Given the description of an element on the screen output the (x, y) to click on. 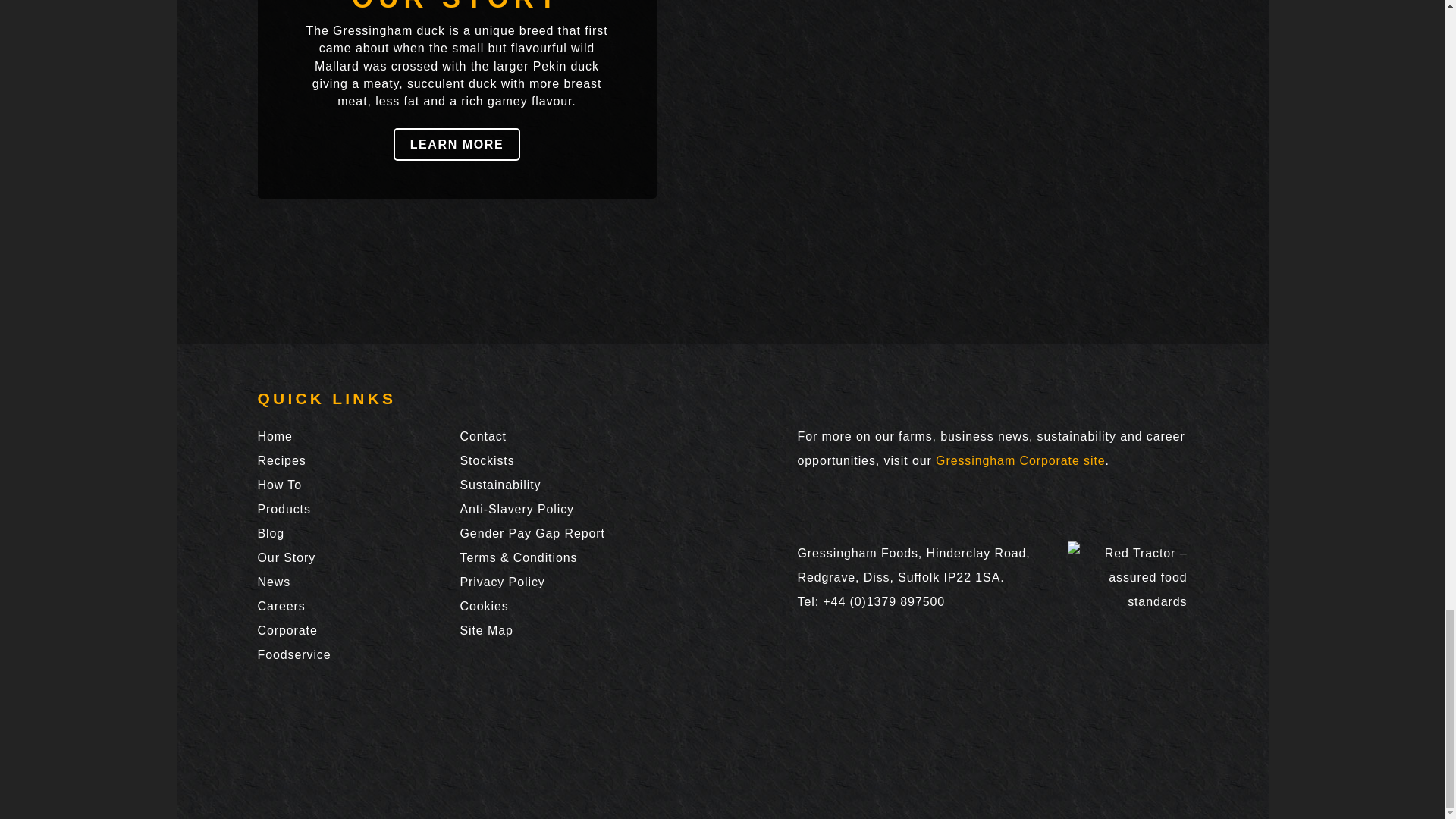
Stockists (486, 460)
Sustainability (500, 484)
Products (284, 508)
Corporate (287, 630)
How To (279, 484)
Contact (482, 436)
News (274, 581)
Careers (281, 605)
Our Story (286, 557)
Foodservice (294, 654)
